Given the description of an element on the screen output the (x, y) to click on. 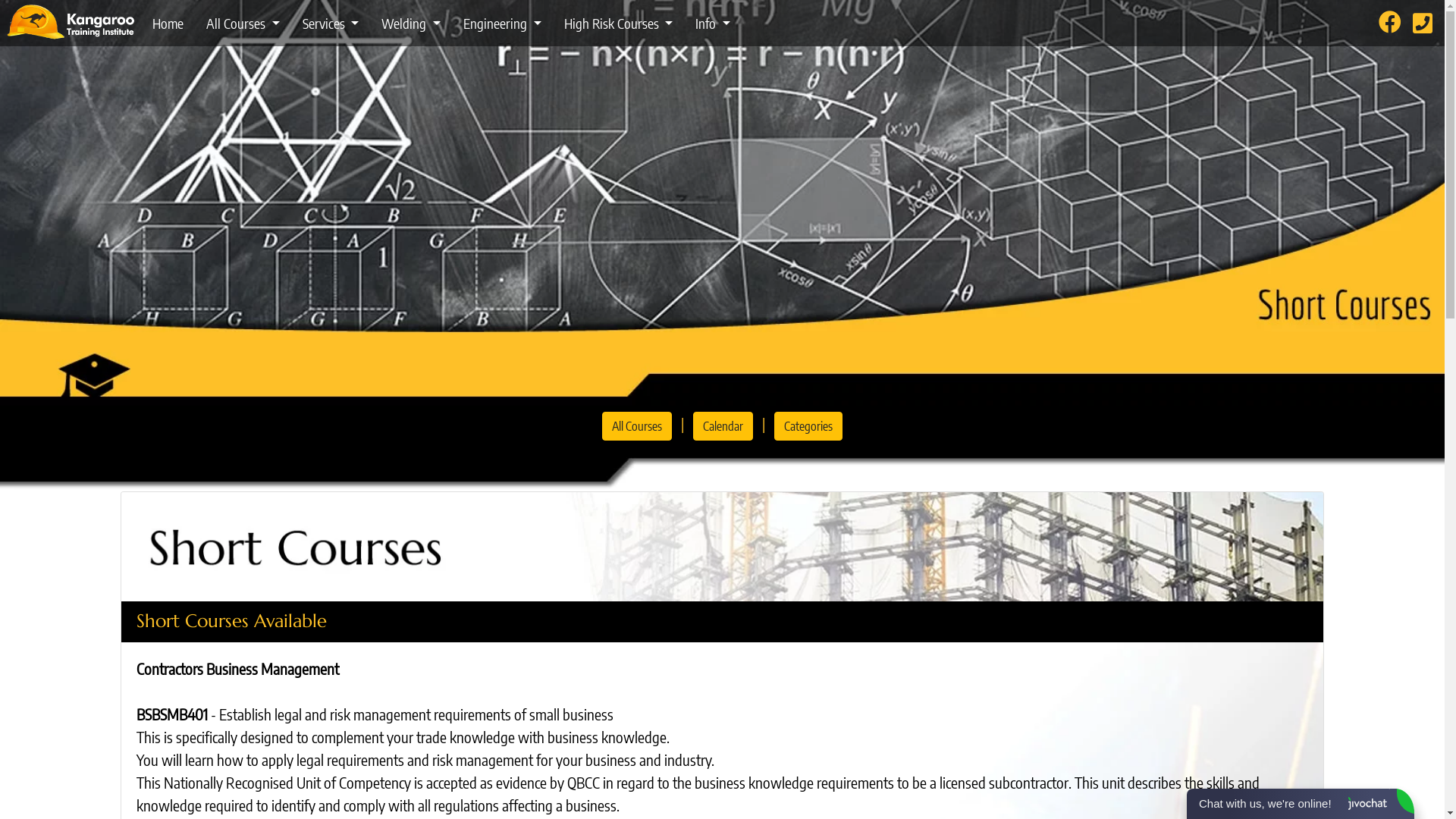
High Risk Courses Element type: text (618, 22)
Home Element type: text (167, 22)
Welding Element type: text (410, 22)
Categories Element type: text (808, 425)
Services Element type: text (330, 22)
All Courses Element type: text (636, 425)
Calendar Element type: text (723, 425)
Engineering Element type: text (501, 22)
All Courses Element type: text (242, 22)
Info Element type: text (712, 22)
